Given the description of an element on the screen output the (x, y) to click on. 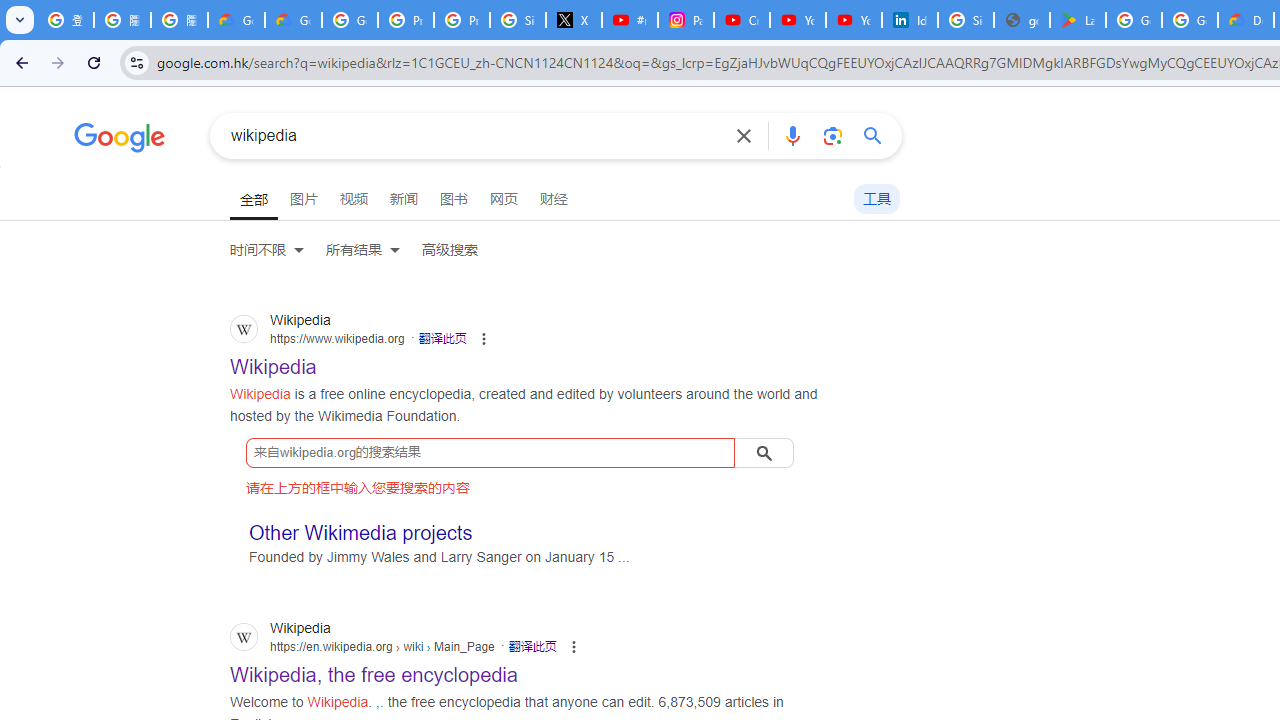
Last Shelter: Survival - Apps on Google Play (1077, 20)
Google Workspace - Specific Terms (1190, 20)
Google Cloud Privacy Notice (293, 20)
